Given the description of an element on the screen output the (x, y) to click on. 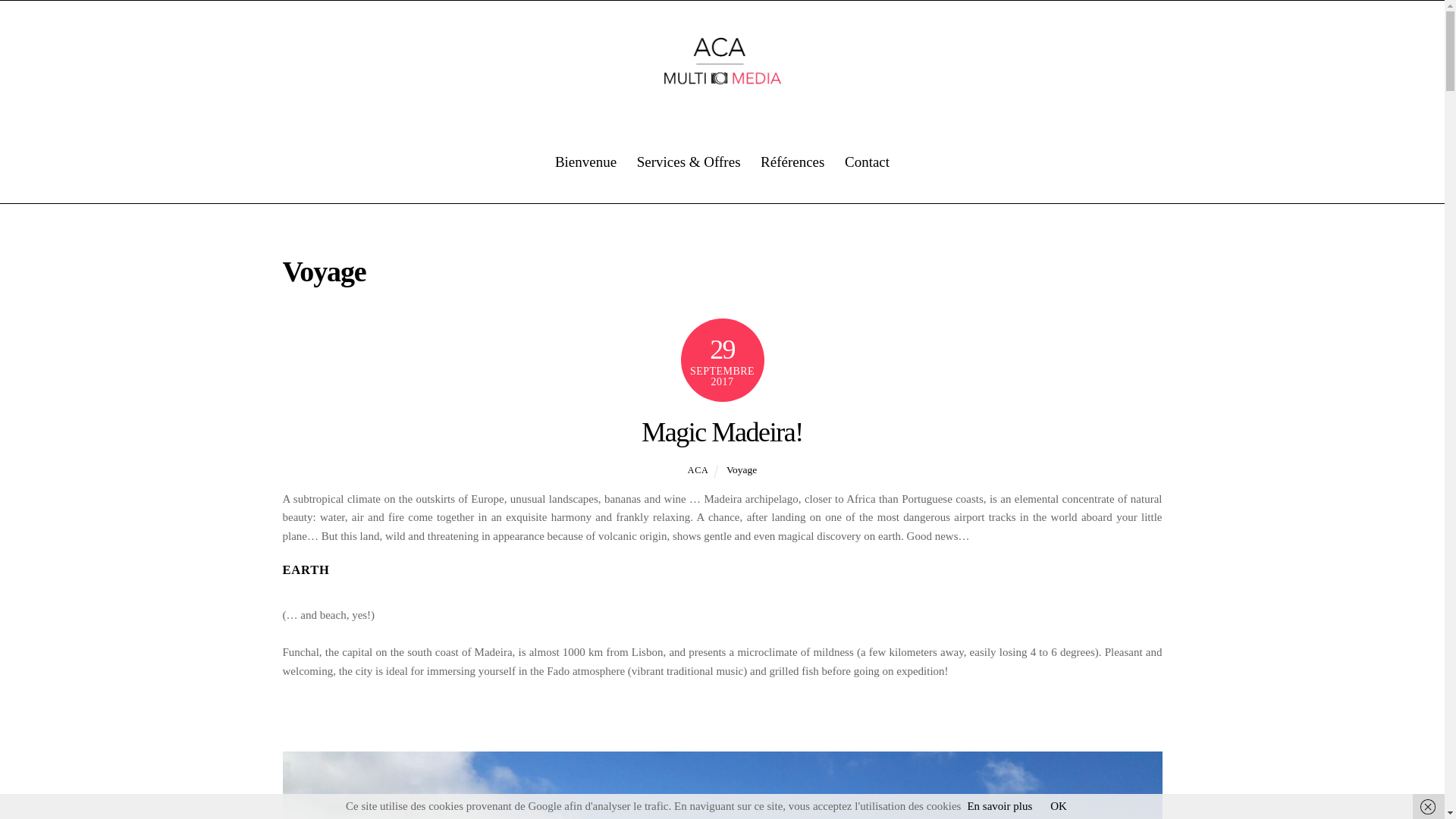
Magic Madeira! (722, 431)
Contact (866, 162)
Voyage (741, 469)
Bienvenue (585, 162)
ACA (697, 470)
OK (1058, 806)
En savoir plus (999, 806)
